Given the description of an element on the screen output the (x, y) to click on. 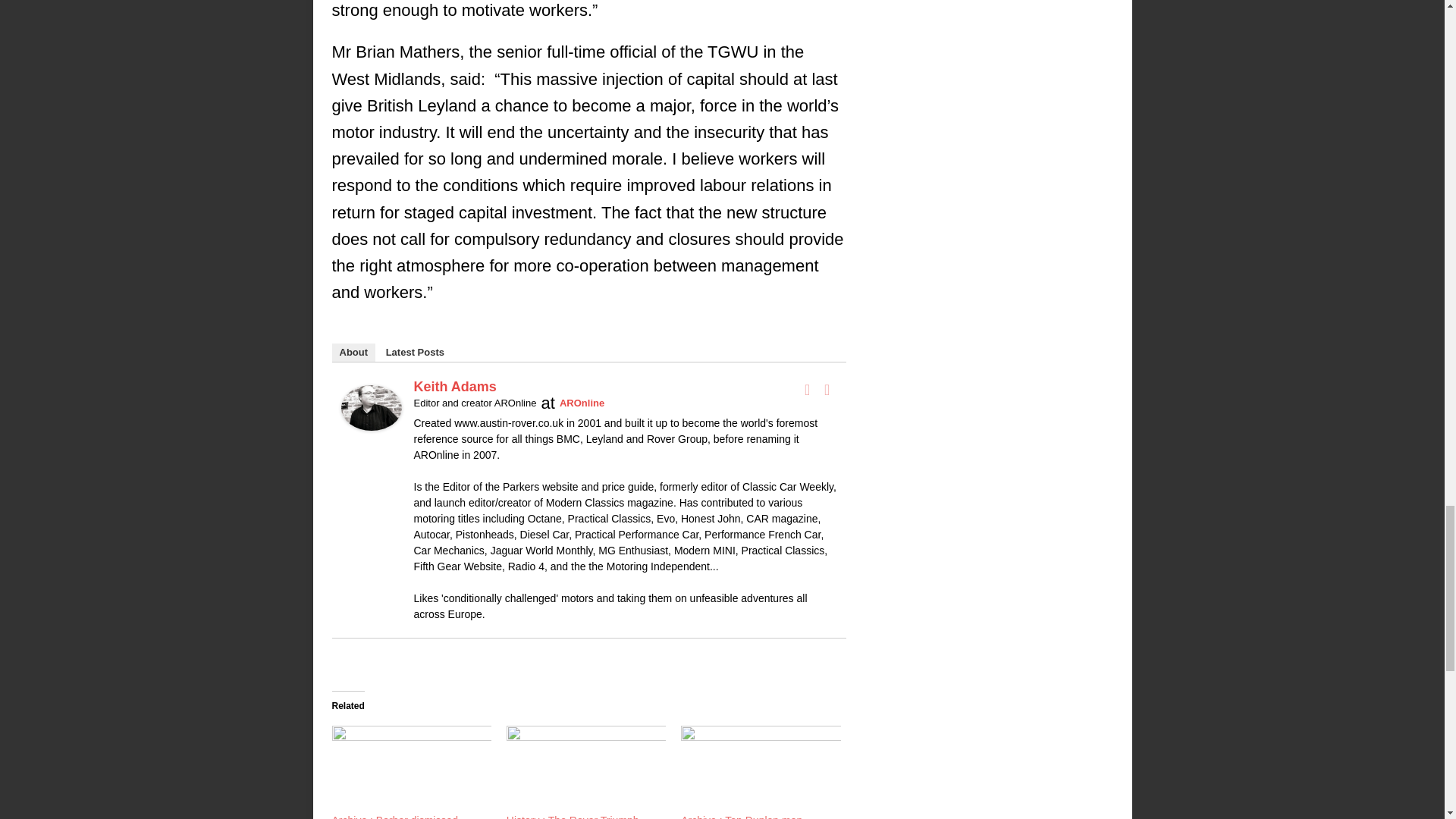
Archive : Top Dunlop man recruited by British Leyland (760, 767)
Facebook (806, 389)
Keith Adams (370, 416)
Twitter (826, 389)
Archive : Barber dismissed (394, 816)
Archive : Barber dismissed (411, 767)
